Given the description of an element on the screen output the (x, y) to click on. 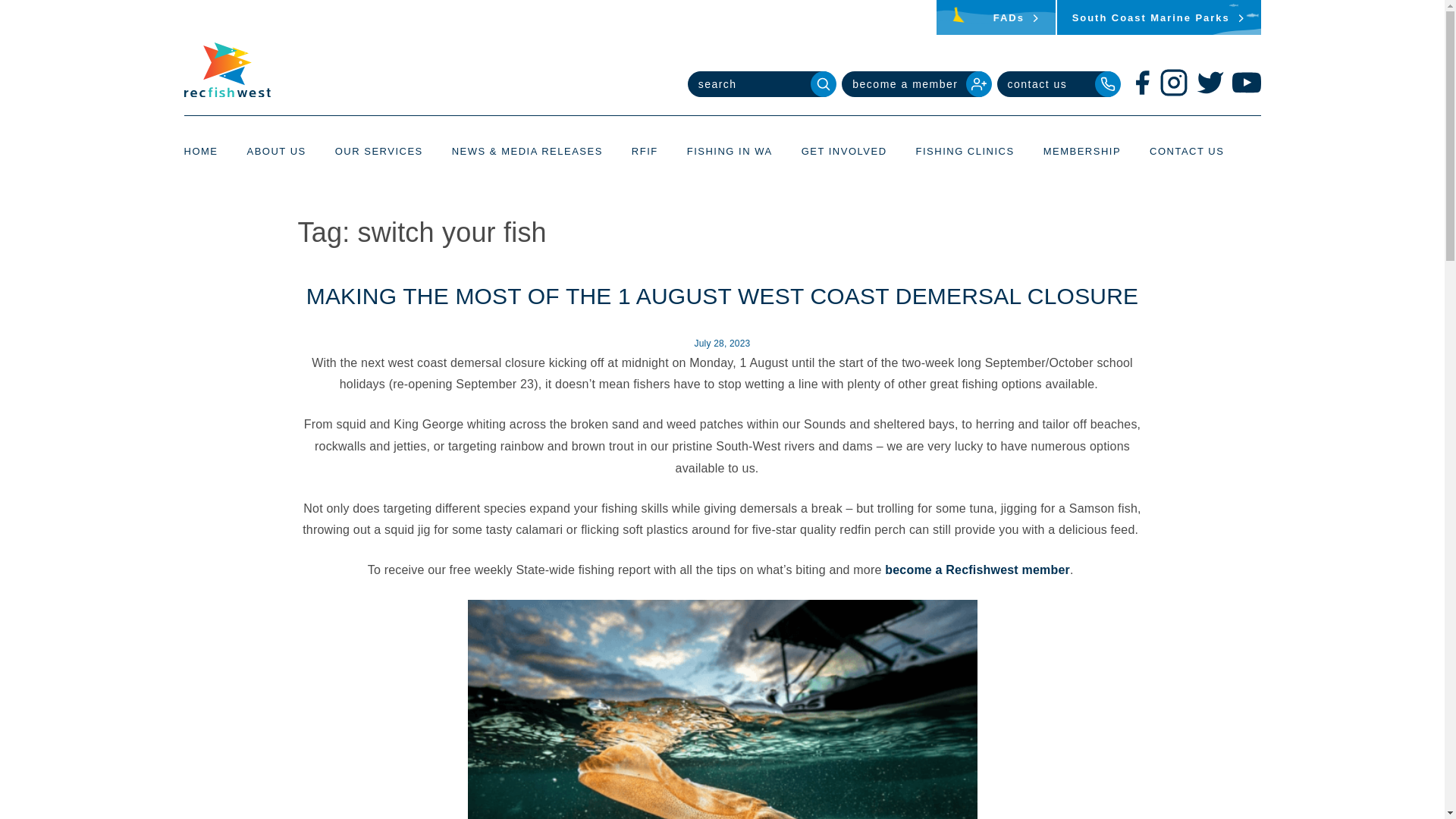
FADs (995, 17)
become a member (915, 84)
OUR SERVICES (378, 151)
ABOUT US (276, 151)
South Coast Marine Parks (1158, 17)
contact us (1057, 84)
